Given the description of an element on the screen output the (x, y) to click on. 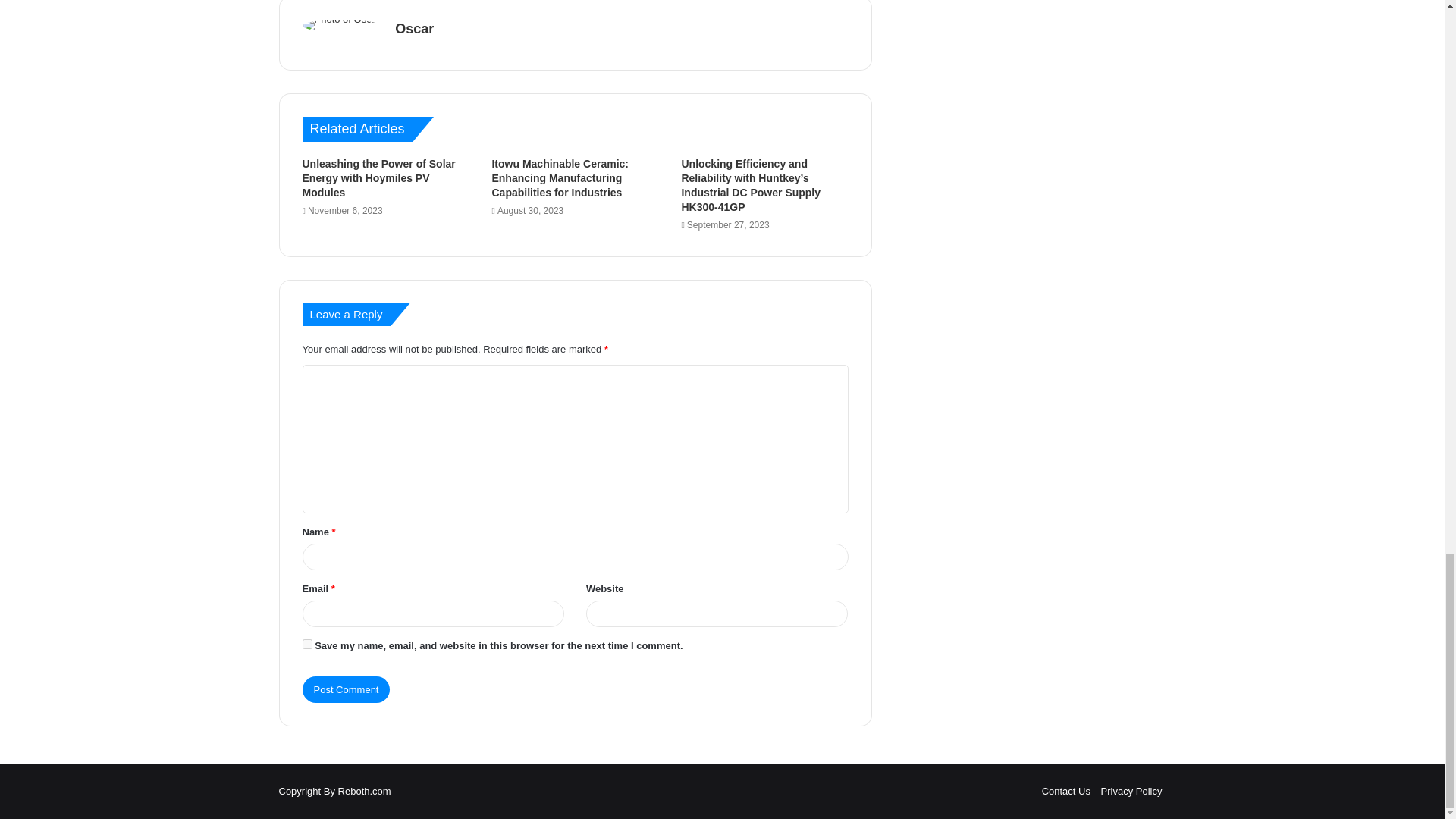
Post Comment (345, 689)
Post Comment (345, 689)
Oscar (413, 28)
yes (306, 644)
